Given the description of an element on the screen output the (x, y) to click on. 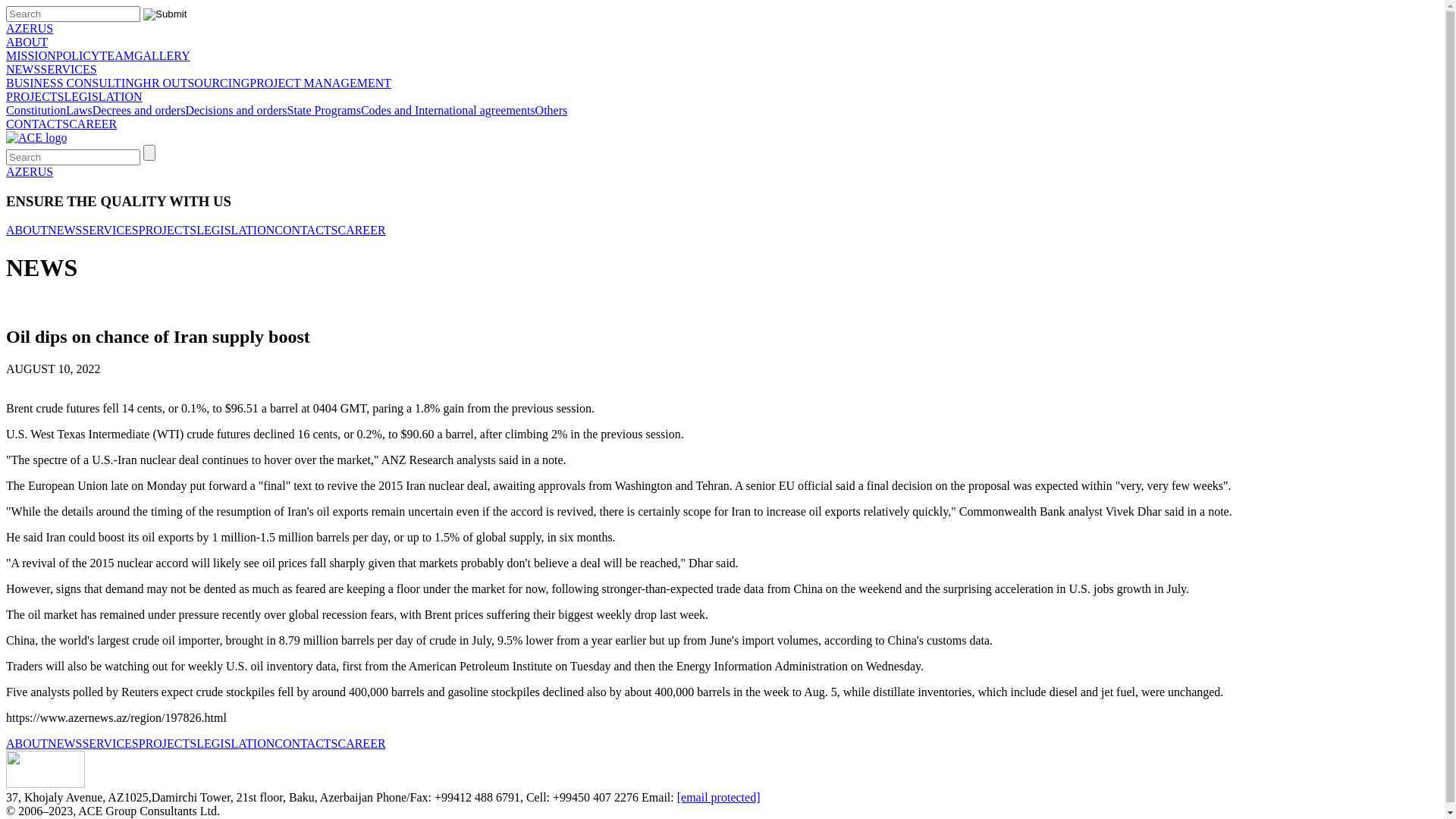
PROJECTS Element type: text (167, 229)
NEWS Element type: text (23, 68)
GALLERY Element type: text (162, 55)
PROJECTS Element type: text (167, 743)
Laws Element type: text (78, 109)
ABOUT Element type: text (26, 229)
PROJECTS Element type: text (34, 96)
CAREER Element type: text (361, 229)
NEWS Element type: text (64, 229)
ABOUT Element type: text (26, 41)
BUSINESS CONSULTING Element type: text (74, 82)
CONTACTS Element type: text (305, 743)
NEWS Element type: text (64, 743)
PROJECT MANAGEMENT Element type: text (320, 82)
CAREER Element type: text (361, 743)
CAREER Element type: text (92, 123)
POLICY Element type: text (78, 55)
HR OUTSOURCING Element type: text (195, 82)
ABOUT Element type: text (26, 743)
SERVICES Element type: text (109, 743)
LEGISLATION Element type: text (235, 743)
SERVICES Element type: text (68, 68)
[email protected] Element type: text (718, 796)
RUS Element type: text (41, 171)
CONTACTS Element type: text (37, 123)
Decrees and orders Element type: text (138, 109)
State Programs Element type: text (323, 109)
Codes and International agreements Element type: text (447, 109)
SERVICES Element type: text (109, 229)
AZE Element type: text (17, 171)
AZE Element type: text (17, 27)
LEGISLATION Element type: text (102, 96)
Decisions and orders Element type: text (235, 109)
Others Element type: text (551, 109)
LEGISLATION Element type: text (235, 229)
MISSION Element type: text (31, 55)
RUS Element type: text (41, 27)
Constitution Element type: text (35, 109)
CONTACTS Element type: text (305, 229)
TEAM Element type: text (117, 55)
